Given the description of an element on the screen output the (x, y) to click on. 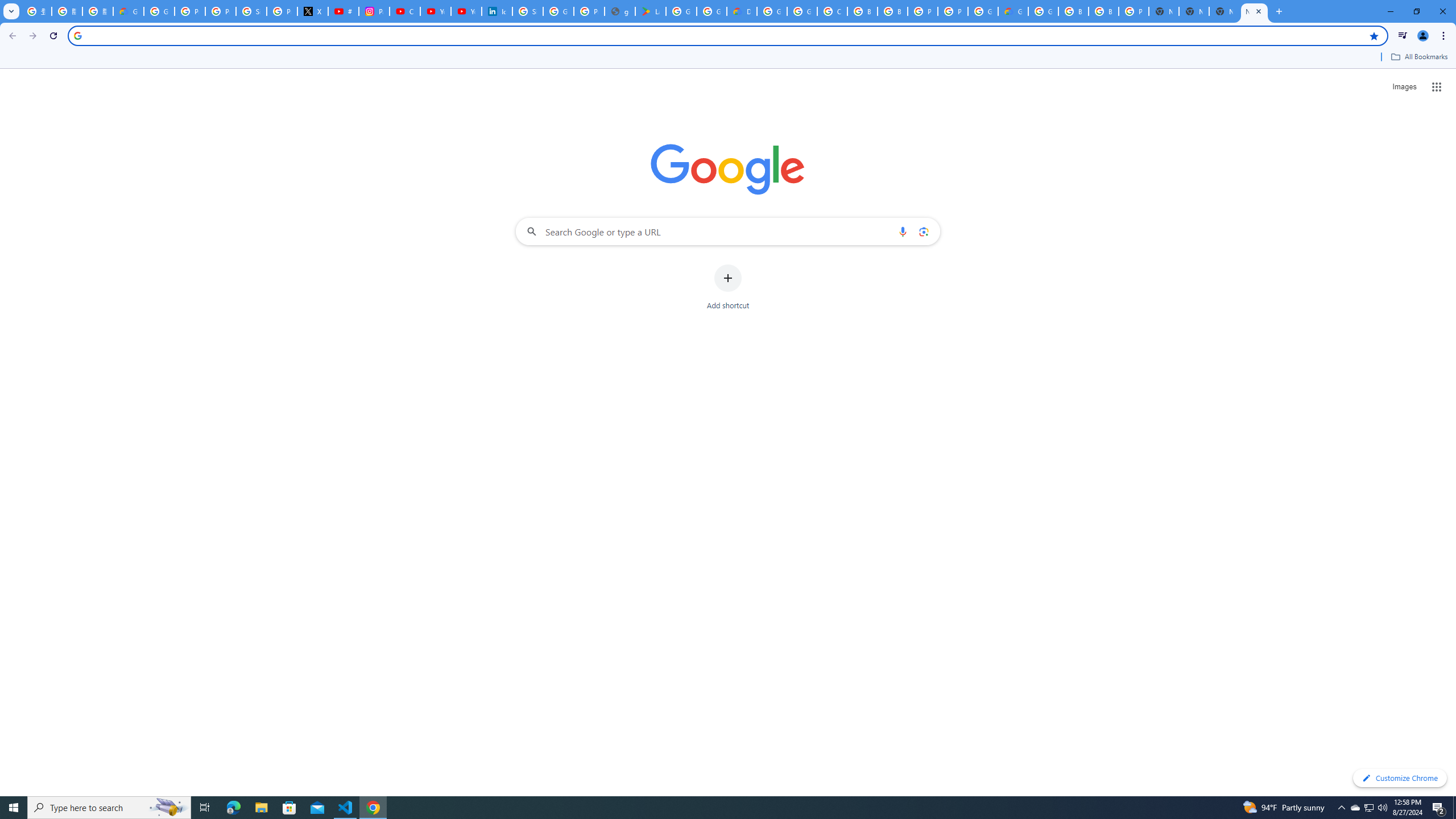
Google Cloud Privacy Notice (127, 11)
Browse Chrome as a guest - Computer - Google Chrome Help (1072, 11)
New Tab (1163, 11)
Sign in - Google Accounts (527, 11)
Browse Chrome as a guest - Computer - Google Chrome Help (892, 11)
#nbabasketballhighlights - YouTube (343, 11)
google_privacy_policy_en.pdf (619, 11)
